Given the description of an element on the screen output the (x, y) to click on. 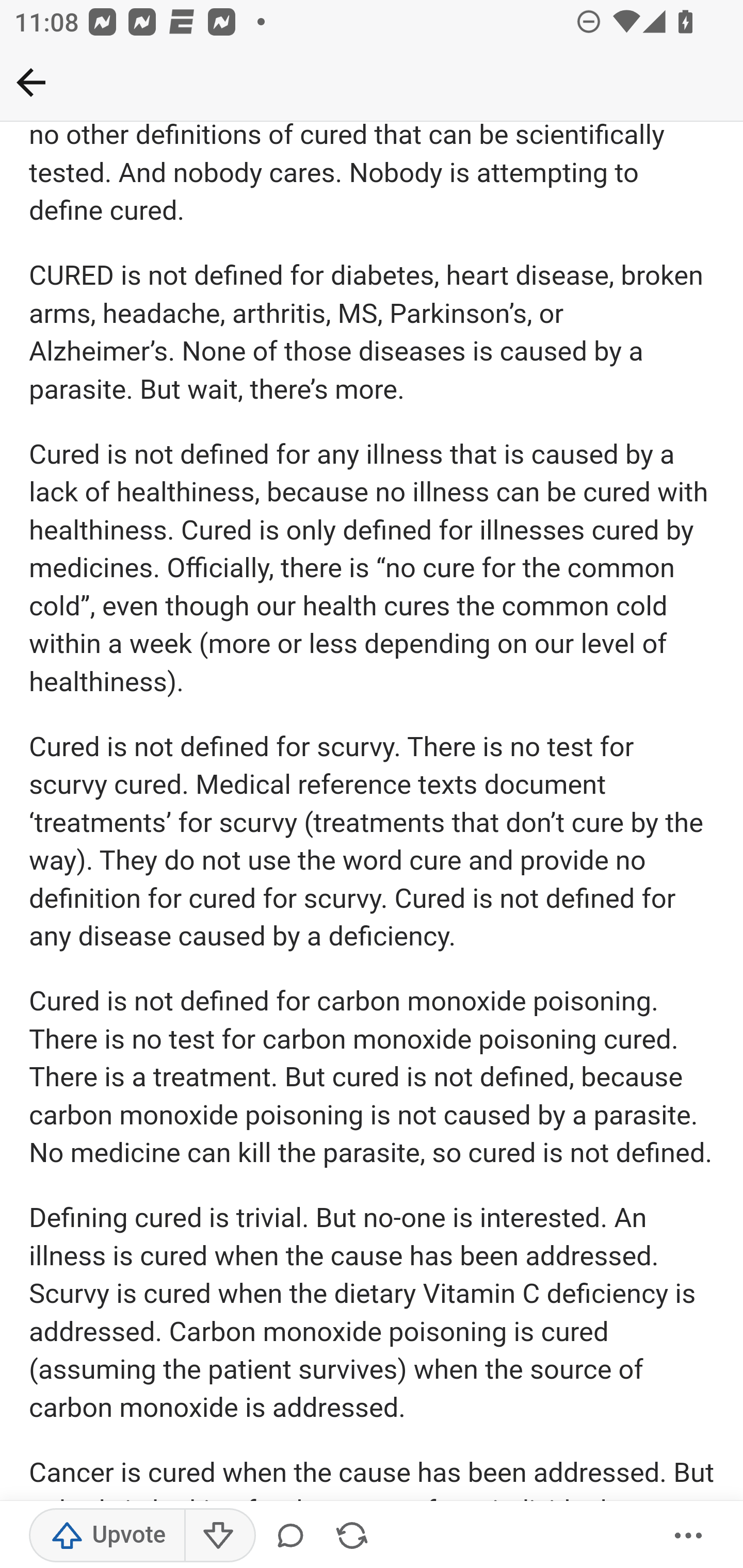
Back (30, 82)
Upvote (106, 1535)
Downvote (219, 1535)
Comment (293, 1535)
Share (351, 1535)
More (688, 1535)
